Given the description of an element on the screen output the (x, y) to click on. 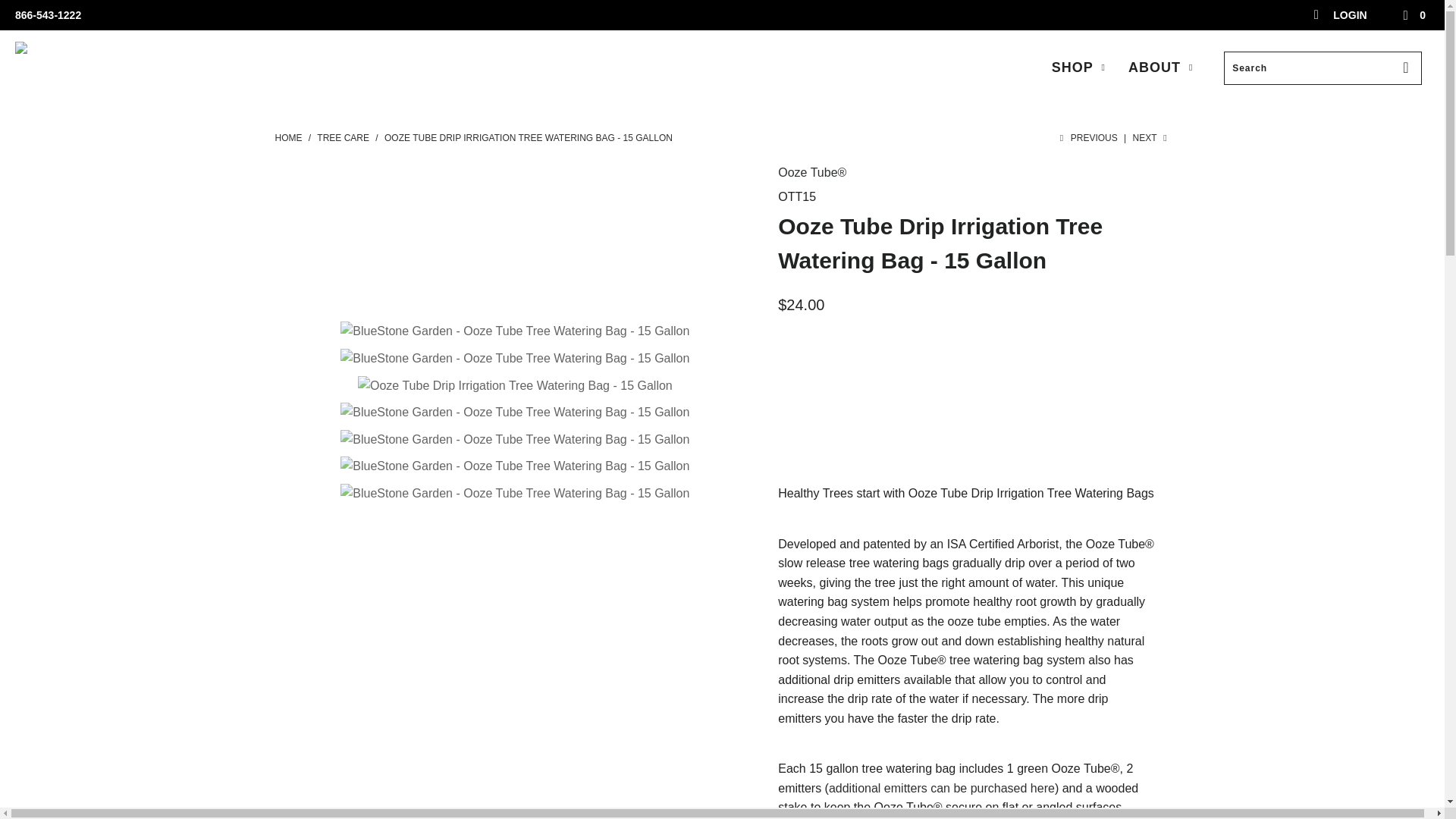
866-543-1222 (47, 15)
Tree Care (344, 137)
Next (1151, 137)
SHOP (1080, 67)
0 (1415, 15)
LOGIN (1340, 15)
My Account  (1340, 15)
Wolf Garten USA (288, 137)
Ooze Tube Drip Irrigation Tree Watering Bag Emitters (941, 788)
Previous (1086, 137)
